Given the description of an element on the screen output the (x, y) to click on. 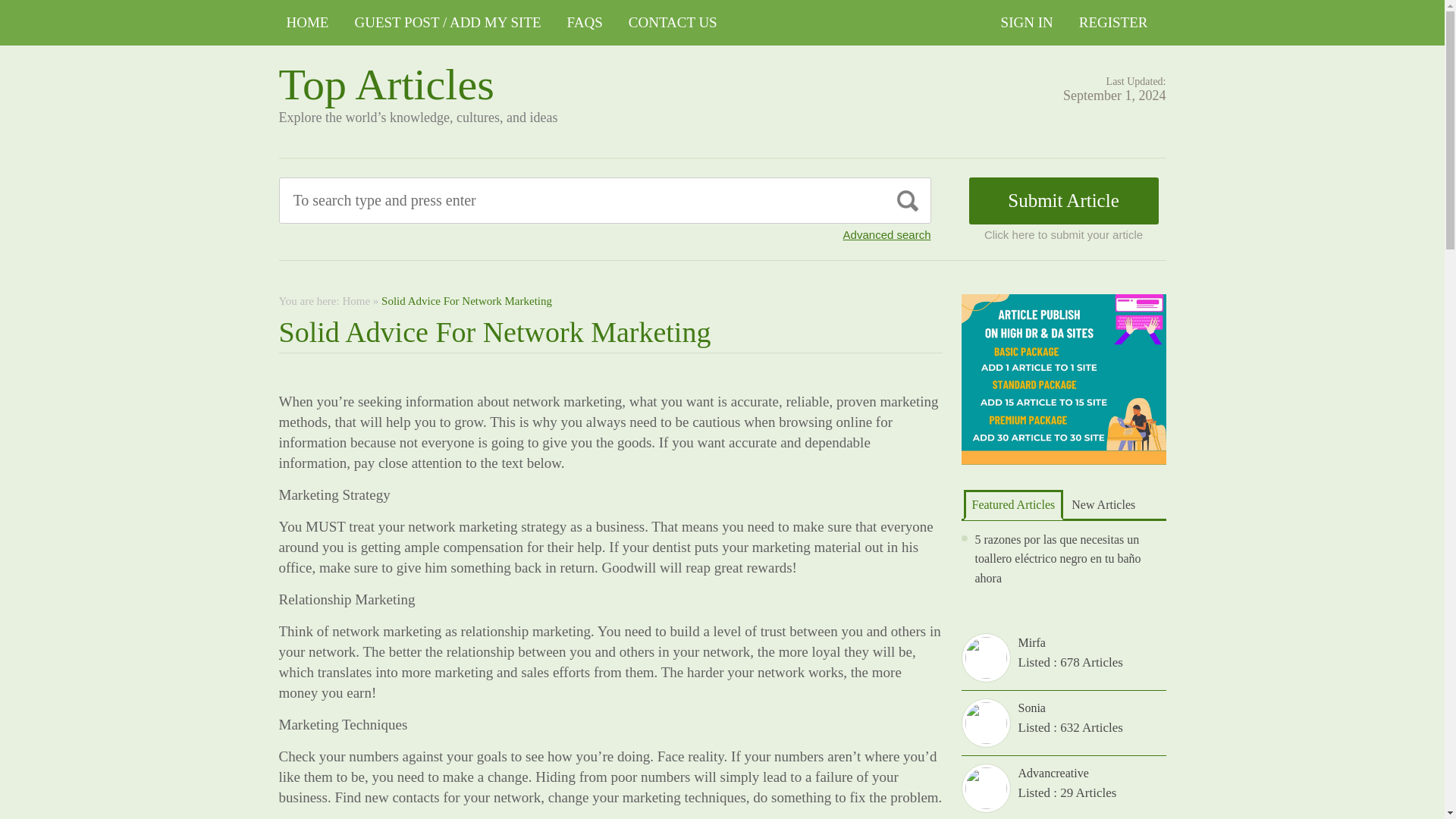
Advanced search (887, 234)
FAQS (584, 22)
Top Articles (387, 83)
Featured Articles (1012, 504)
HOME (307, 22)
Home (355, 300)
REGISTER (1113, 22)
SIGN IN (1026, 22)
New Articles (1103, 504)
Submit Article (1063, 200)
